Given the description of an element on the screen output the (x, y) to click on. 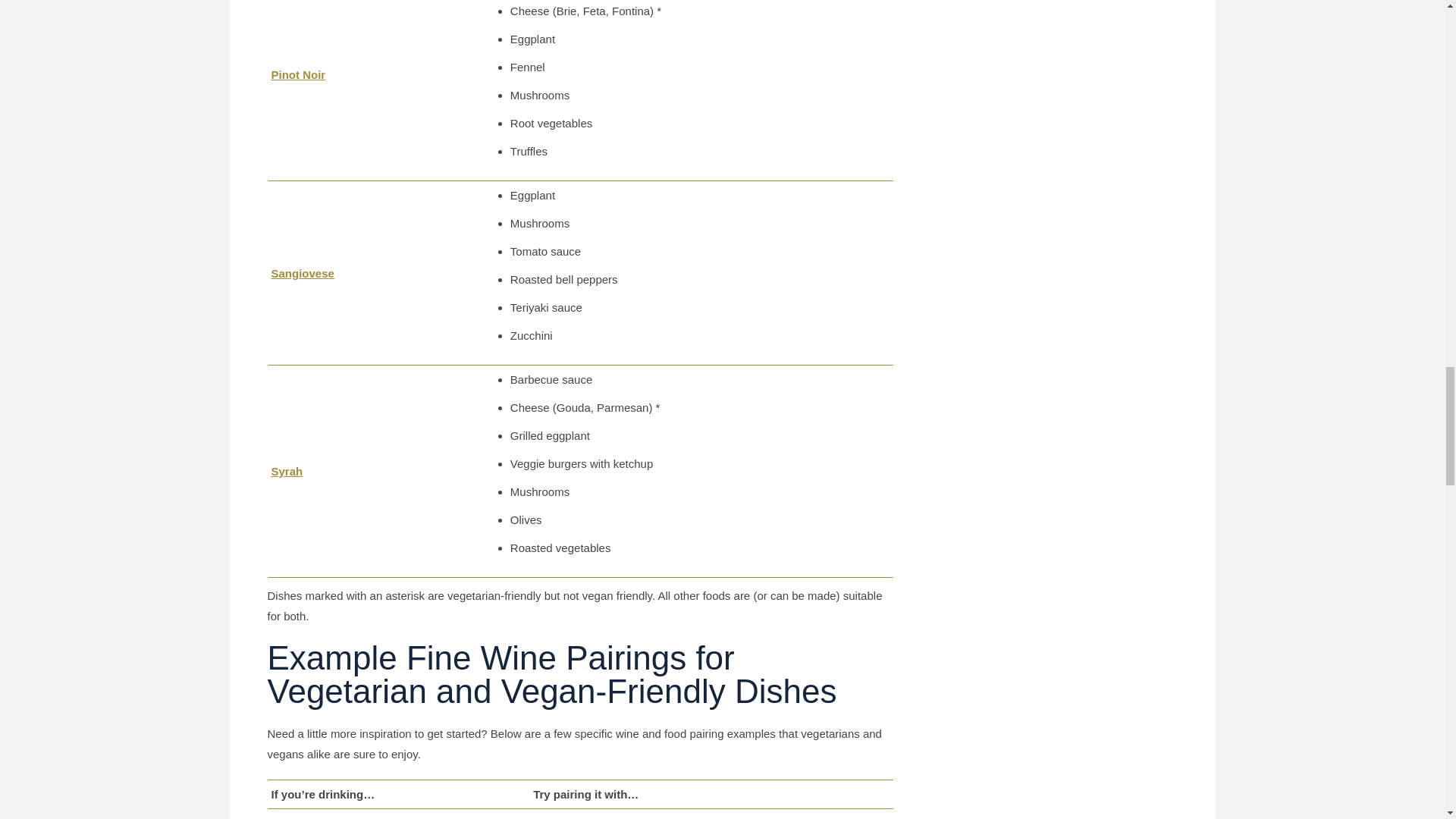
Pinot Noir (298, 74)
Syrah (286, 471)
Sangiovese (302, 273)
